Given the description of an element on the screen output the (x, y) to click on. 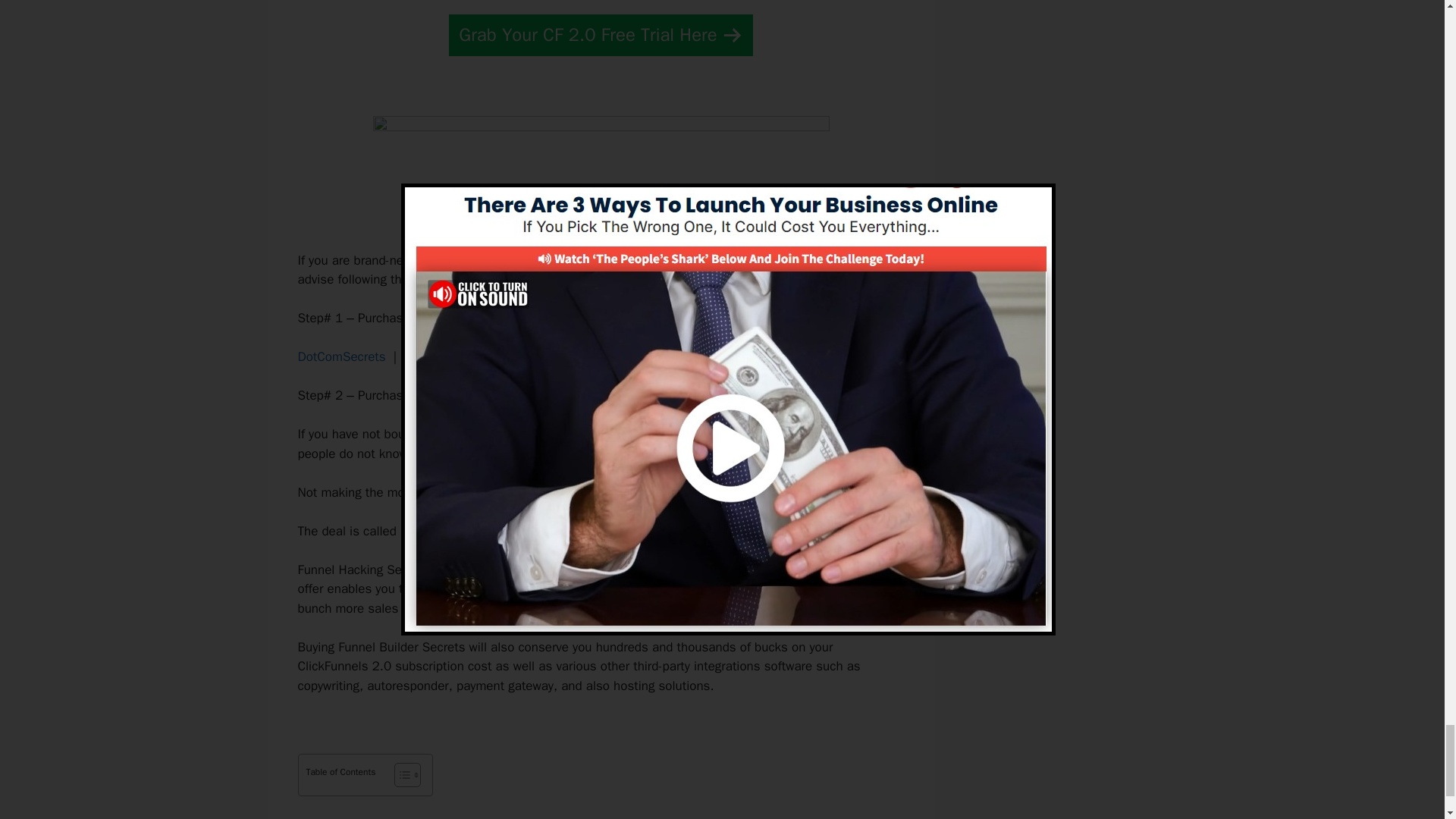
ClickFunnels 2.0 (472, 433)
Expert Secrets (445, 356)
DotComSecrets (341, 356)
Funnel Builder Secrets (463, 530)
Traffic Secrets (545, 356)
Grab Your CF 2.0 Free Trial Here (600, 35)
